Given the description of an element on the screen output the (x, y) to click on. 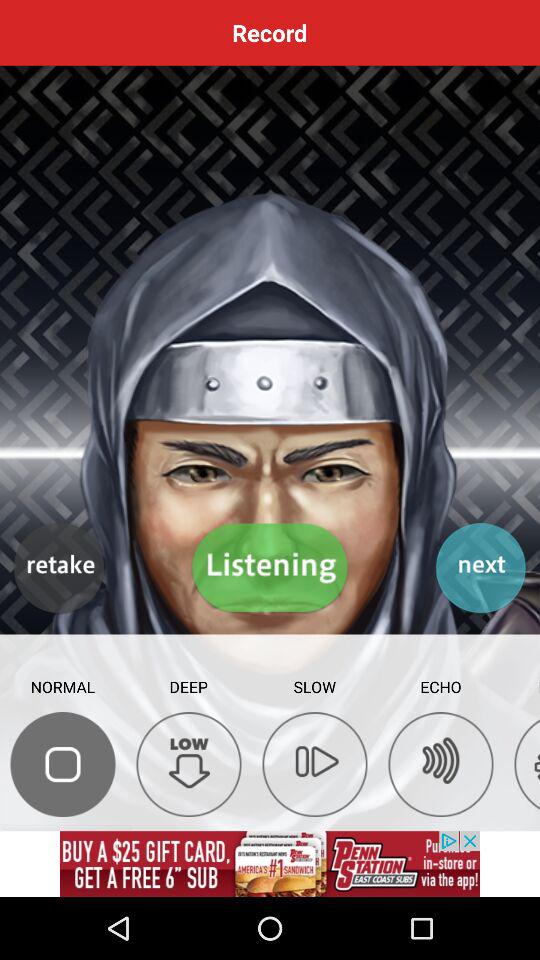
reduce your level (188, 764)
